Given the description of an element on the screen output the (x, y) to click on. 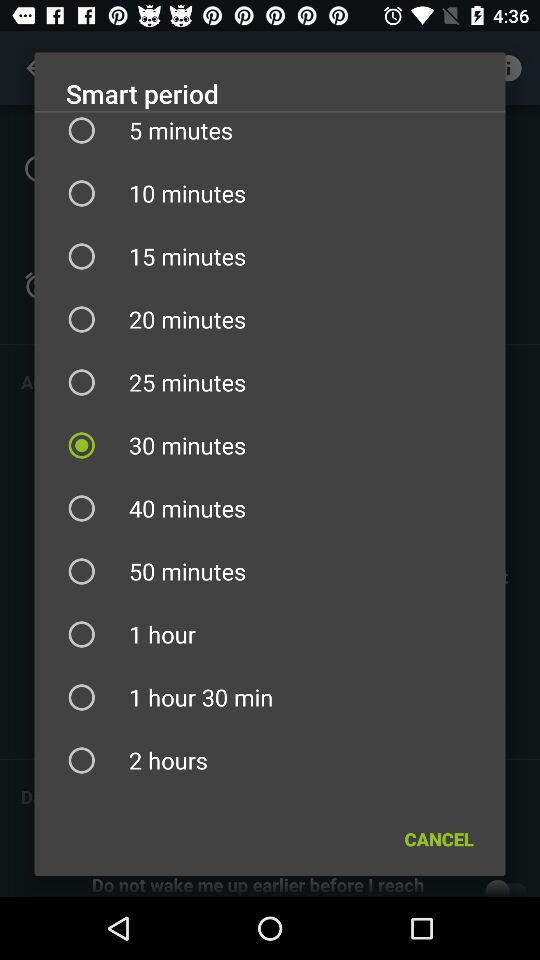
jump to cancel item (438, 838)
